Given the description of an element on the screen output the (x, y) to click on. 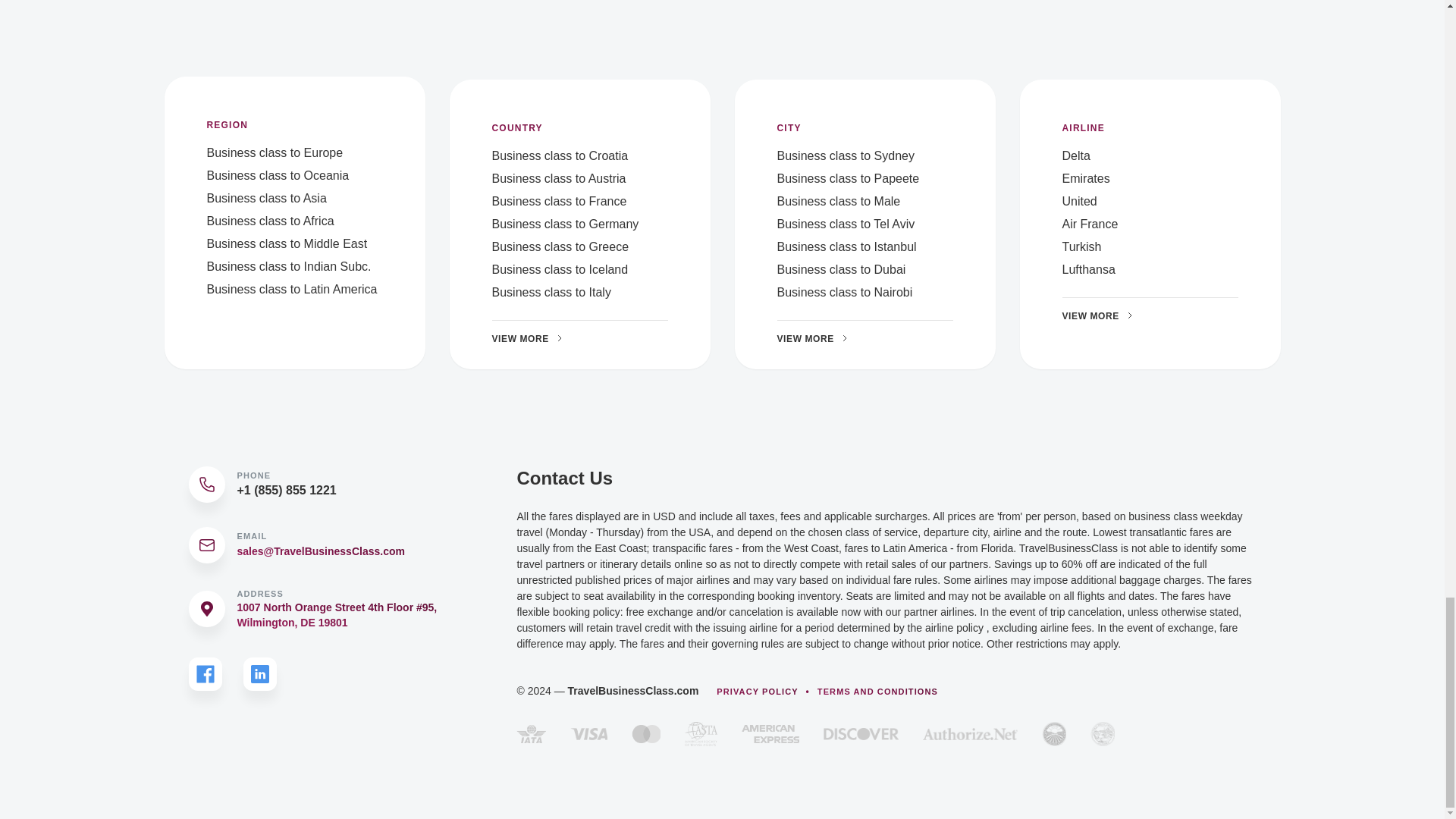
Business class flights to Croatia (559, 155)
Business class flights to Middle East (286, 243)
Business class flights to Asia (266, 197)
Business class flights to Oceania (277, 174)
Business class flights to Latin America (291, 288)
Business class flights to Africa (269, 220)
Business class flights to Indian Subc. (288, 266)
Business class flights to Europe (274, 152)
